Given the description of an element on the screen output the (x, y) to click on. 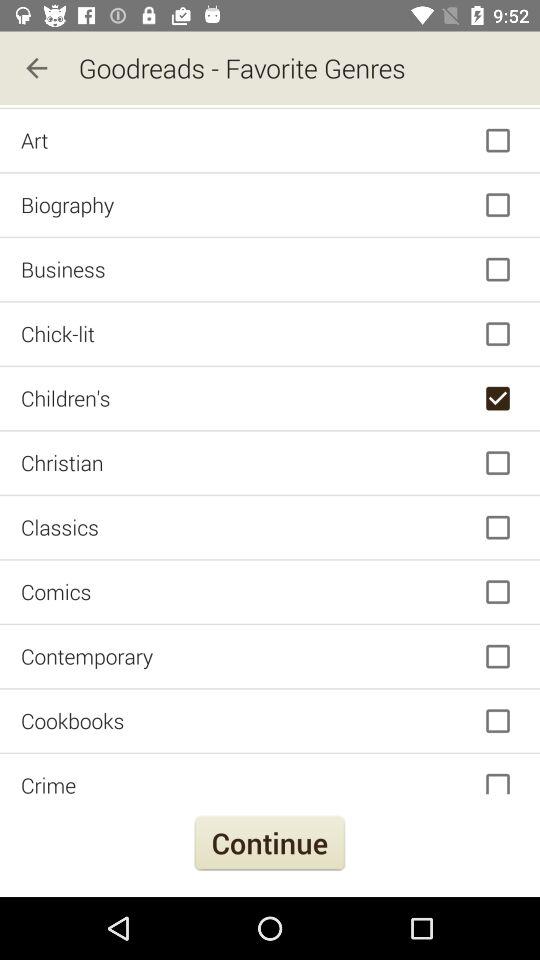
scroll to the chick-lit icon (270, 333)
